Given the description of an element on the screen output the (x, y) to click on. 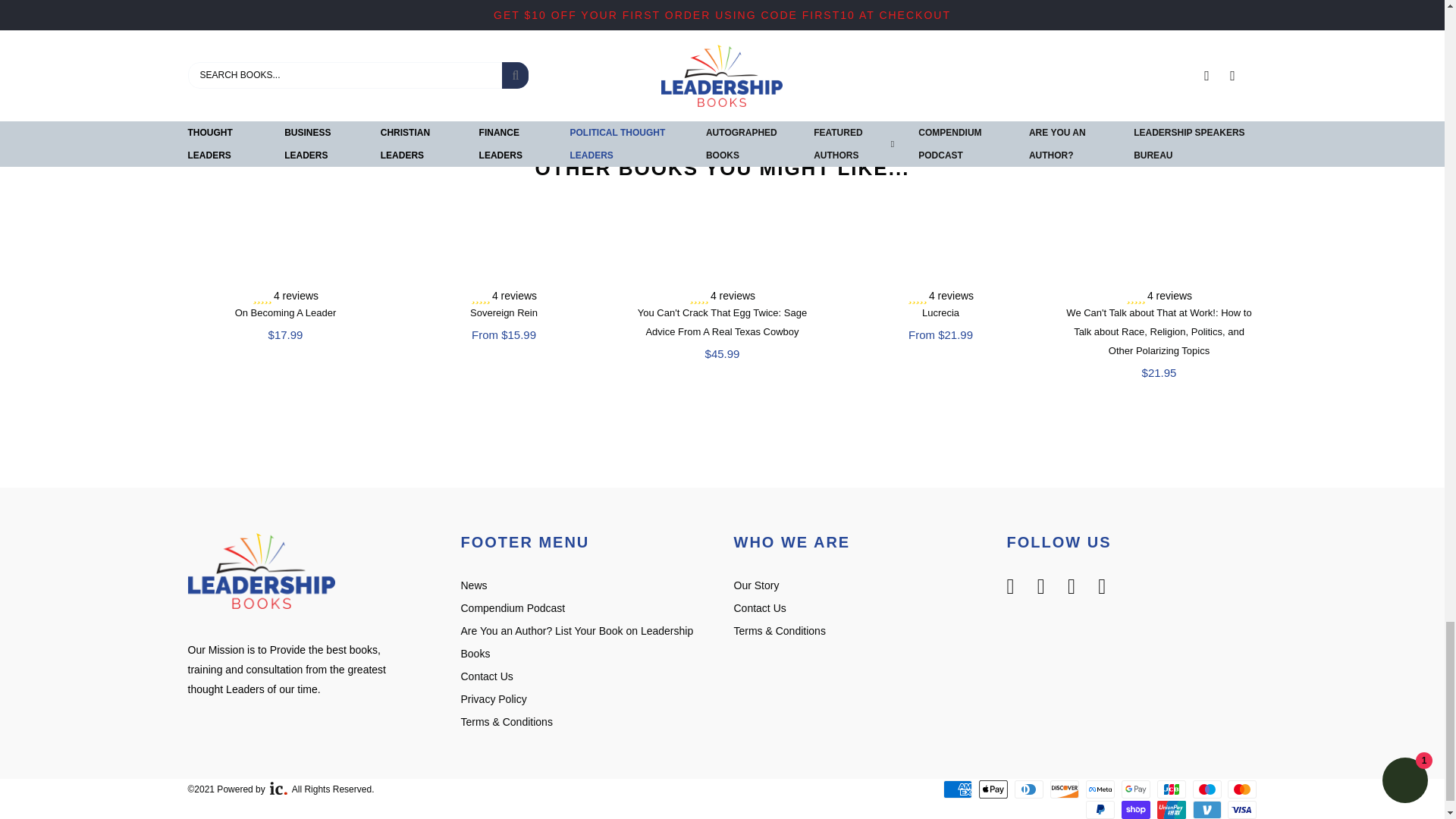
Discover (1063, 789)
Google Pay (1135, 789)
Meta Pay (1100, 789)
Maestro (1206, 789)
JCB (1171, 789)
Diners Club (1028, 789)
American Express (957, 789)
Apple Pay (992, 789)
Mastercard (1241, 789)
